Given the description of an element on the screen output the (x, y) to click on. 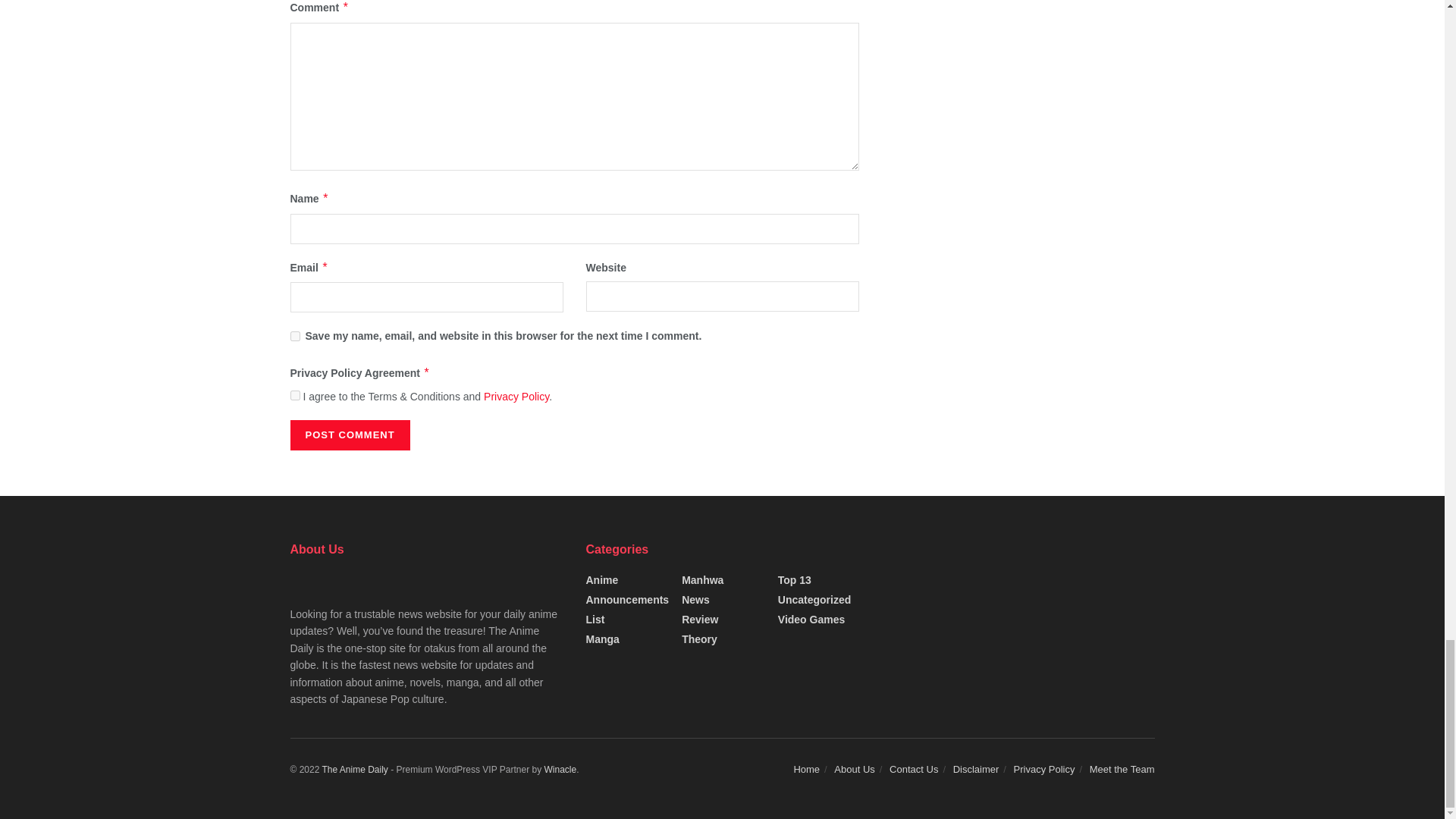
Open World (97, 483)
Racing (83, 757)
Console (86, 620)
eSport (83, 438)
Adventure (91, 392)
Strategy (87, 529)
Sport (80, 574)
Top List (86, 347)
Anime (52, 802)
RPG (78, 711)
